Given the description of an element on the screen output the (x, y) to click on. 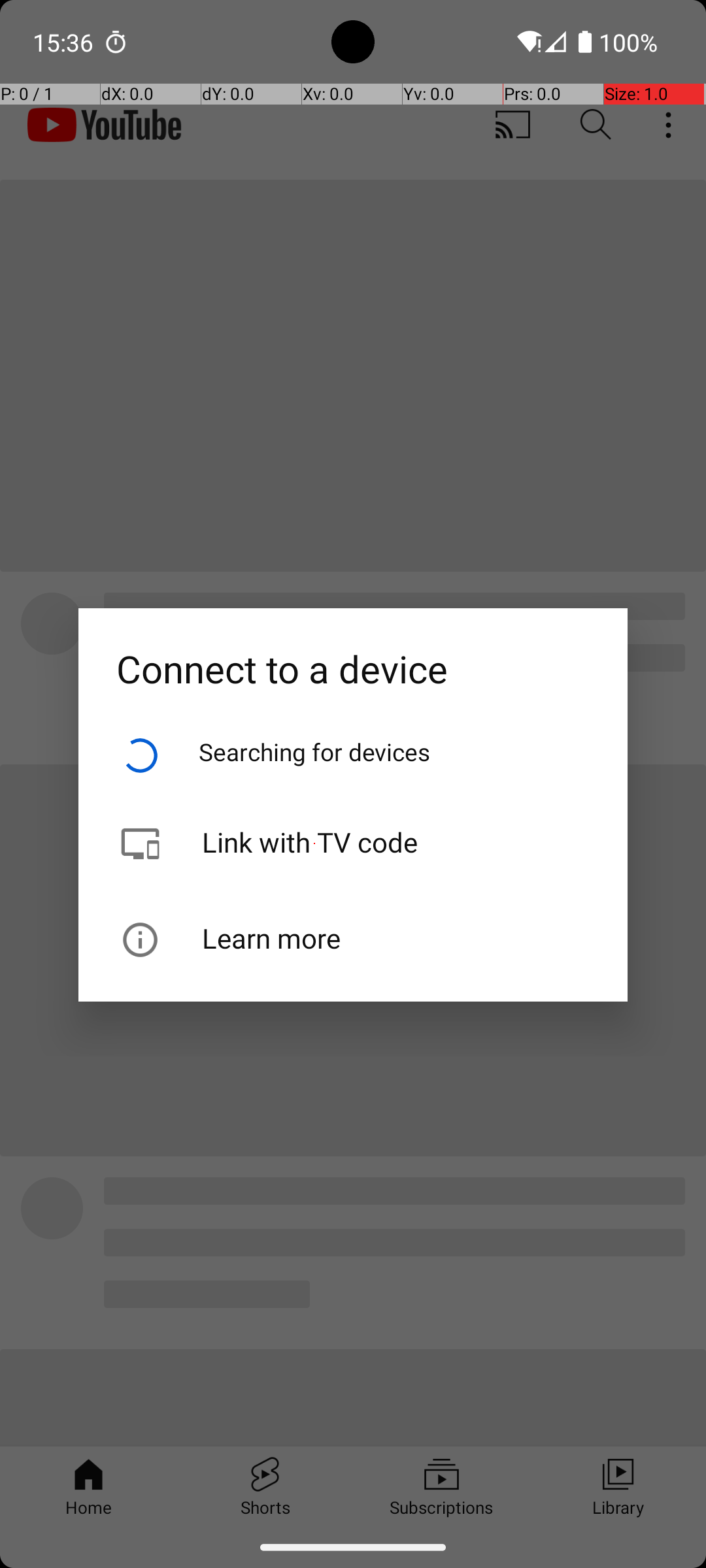
Connect to a device Element type: android.widget.TextView (352, 650)
Searching for devices Element type: android.widget.TextView (314, 751)
Link with TV code Element type: android.widget.TextView (352, 816)
